Given the description of an element on the screen output the (x, y) to click on. 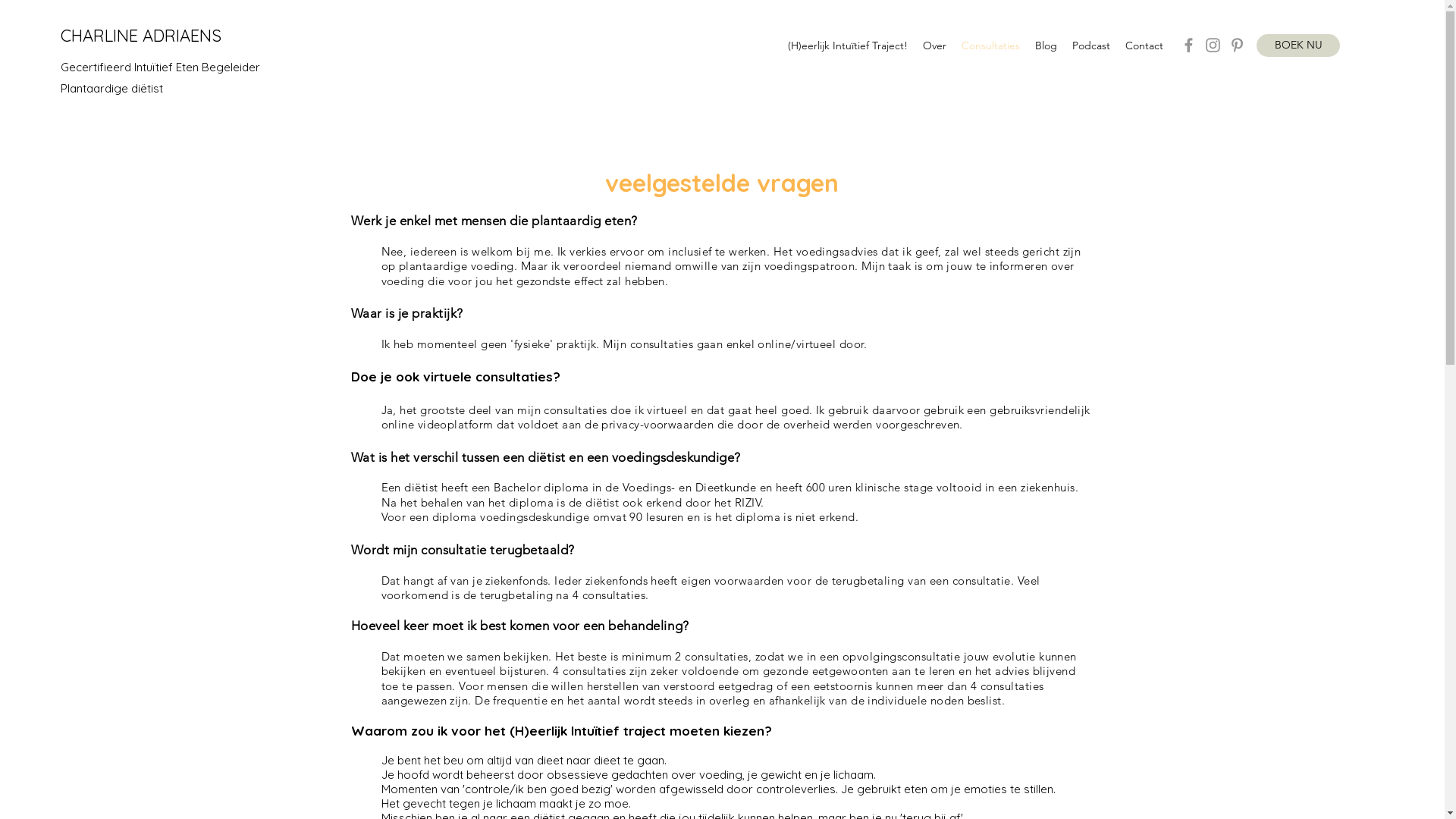
Consultaties Element type: text (990, 45)
Blog Element type: text (1045, 45)
CHARLINE ADRIAENS Element type: text (140, 35)
BOEK NU Element type: text (1297, 45)
Podcast Element type: text (1090, 45)
Contact Element type: text (1143, 45)
